Given the description of an element on the screen output the (x, y) to click on. 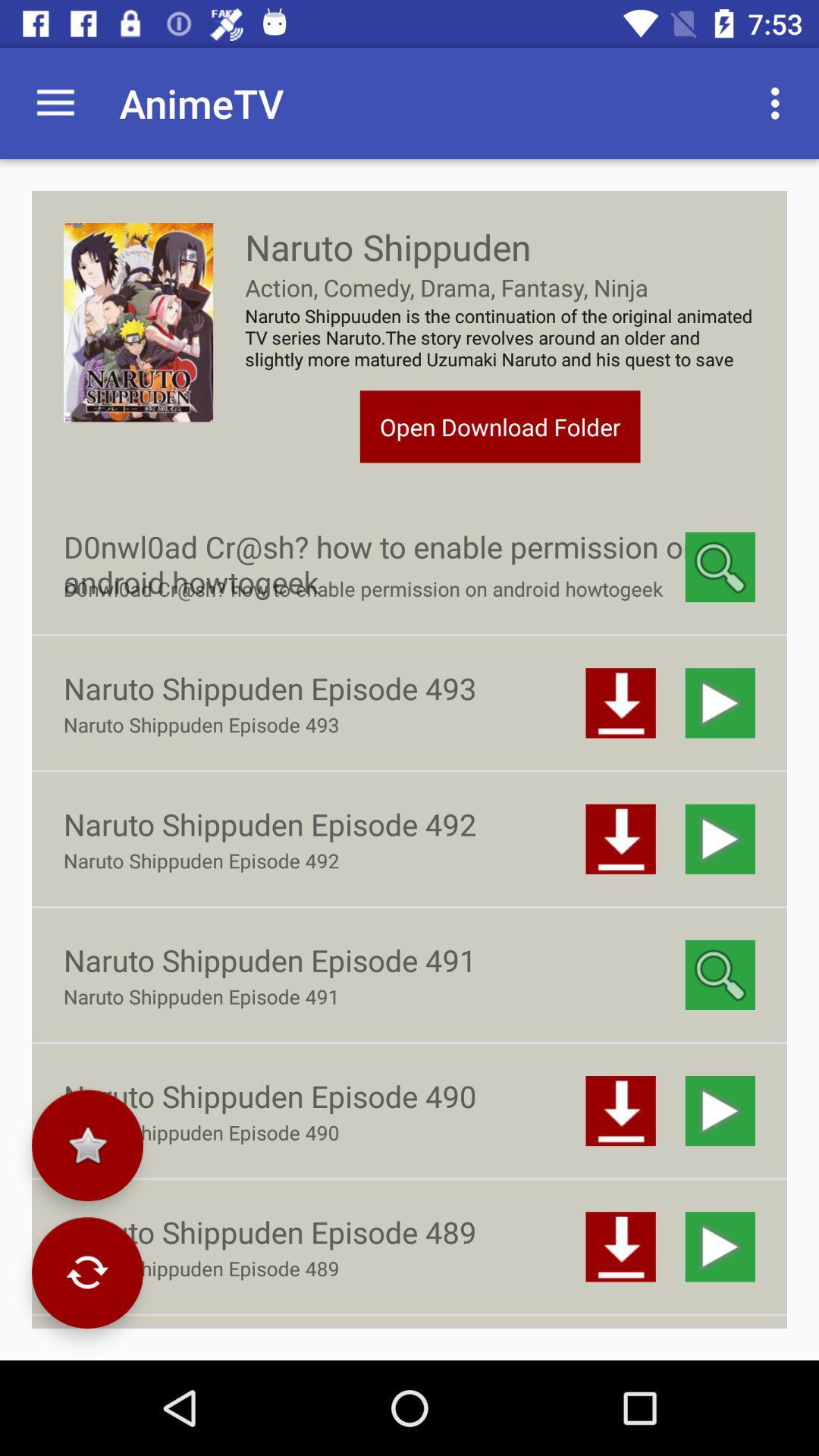
turn on the item below naruto shippuden episode icon (87, 1145)
